Given the description of an element on the screen output the (x, y) to click on. 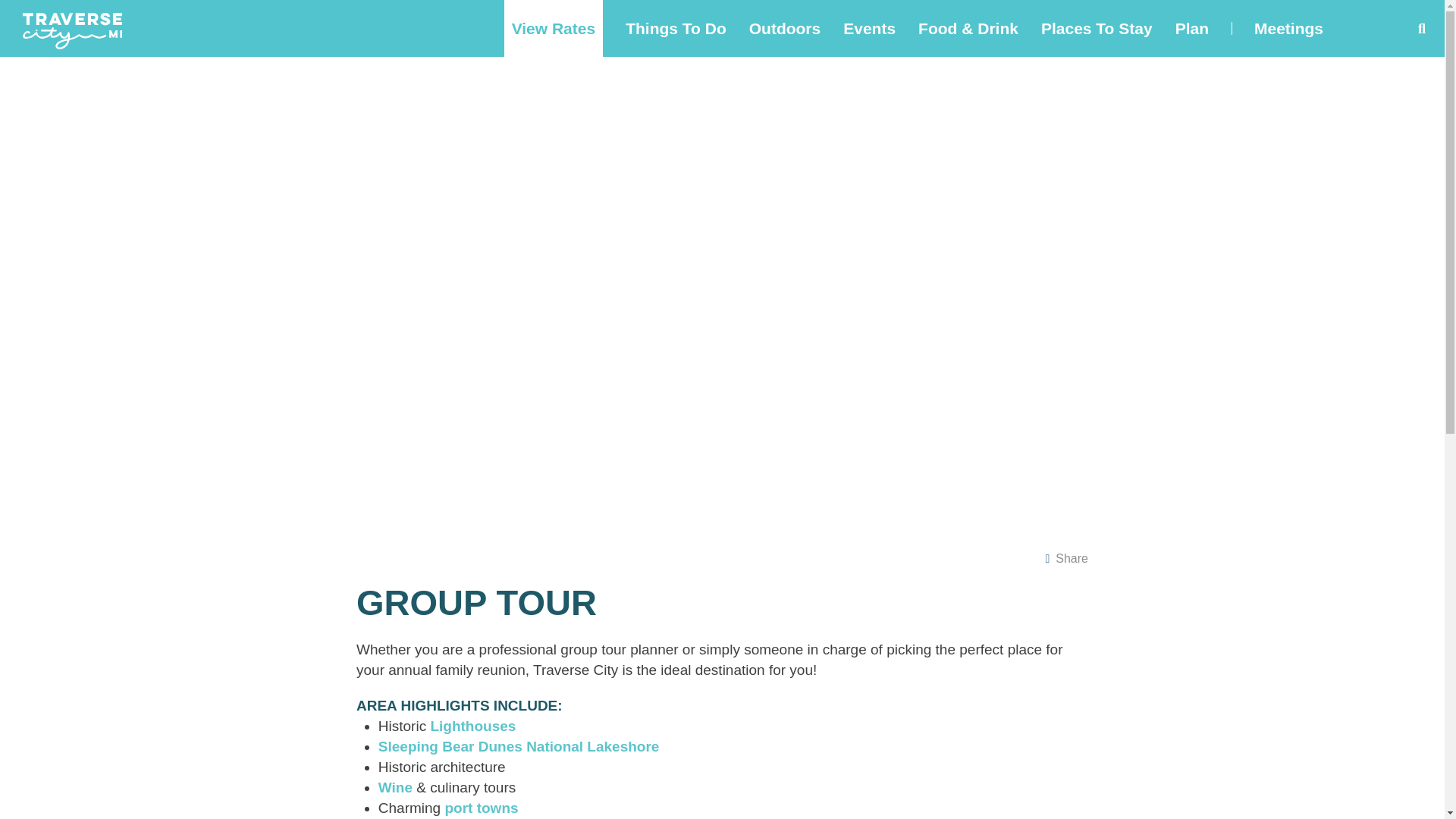
Things To Do (676, 28)
View Rates (553, 28)
Outdoors (785, 28)
